Given the description of an element on the screen output the (x, y) to click on. 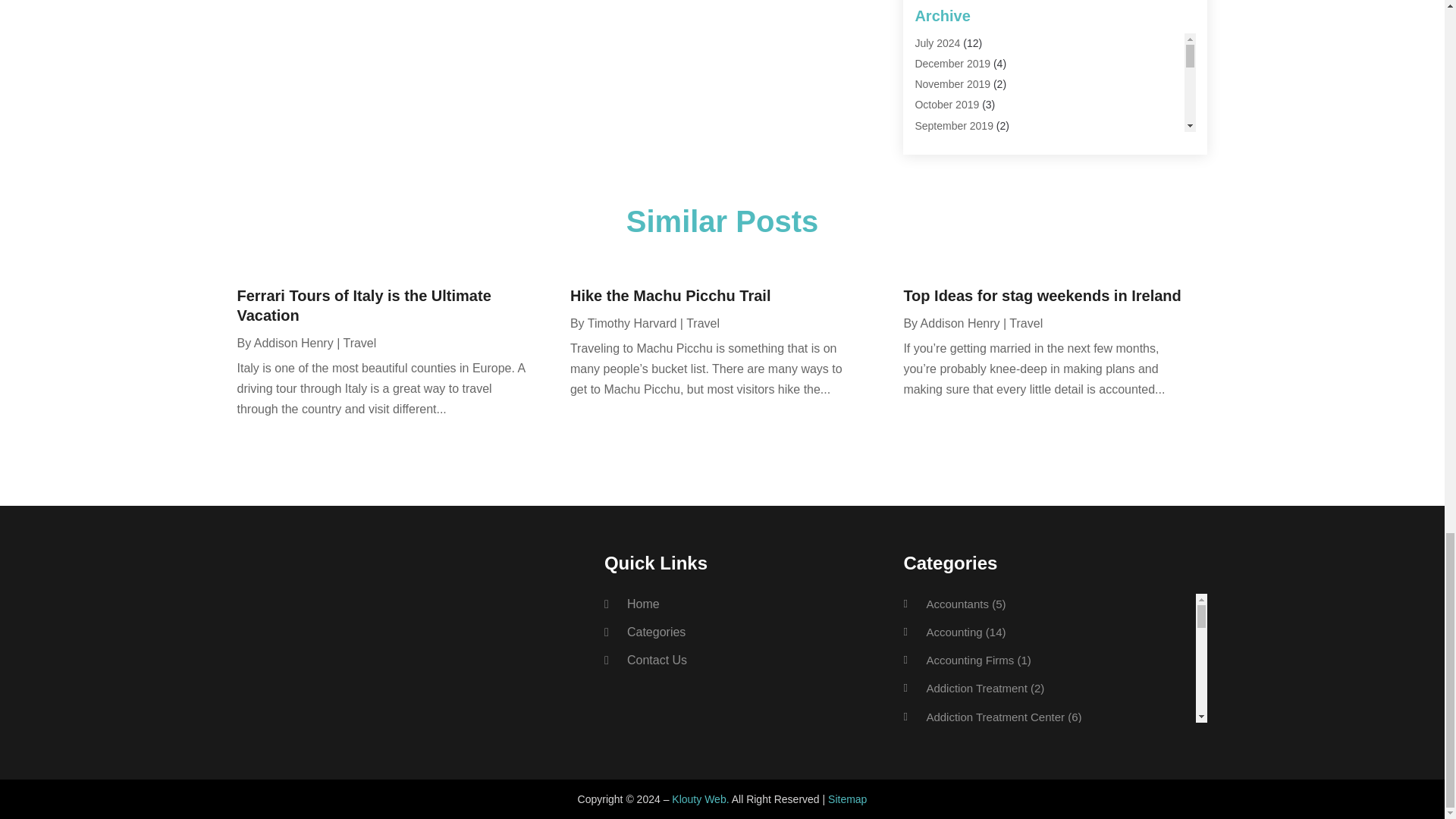
Adoption (935, 10)
Posts by Timothy Harvard (632, 323)
Posts by Addison Henry (960, 323)
Posts by Addison Henry (293, 342)
